Given the description of an element on the screen output the (x, y) to click on. 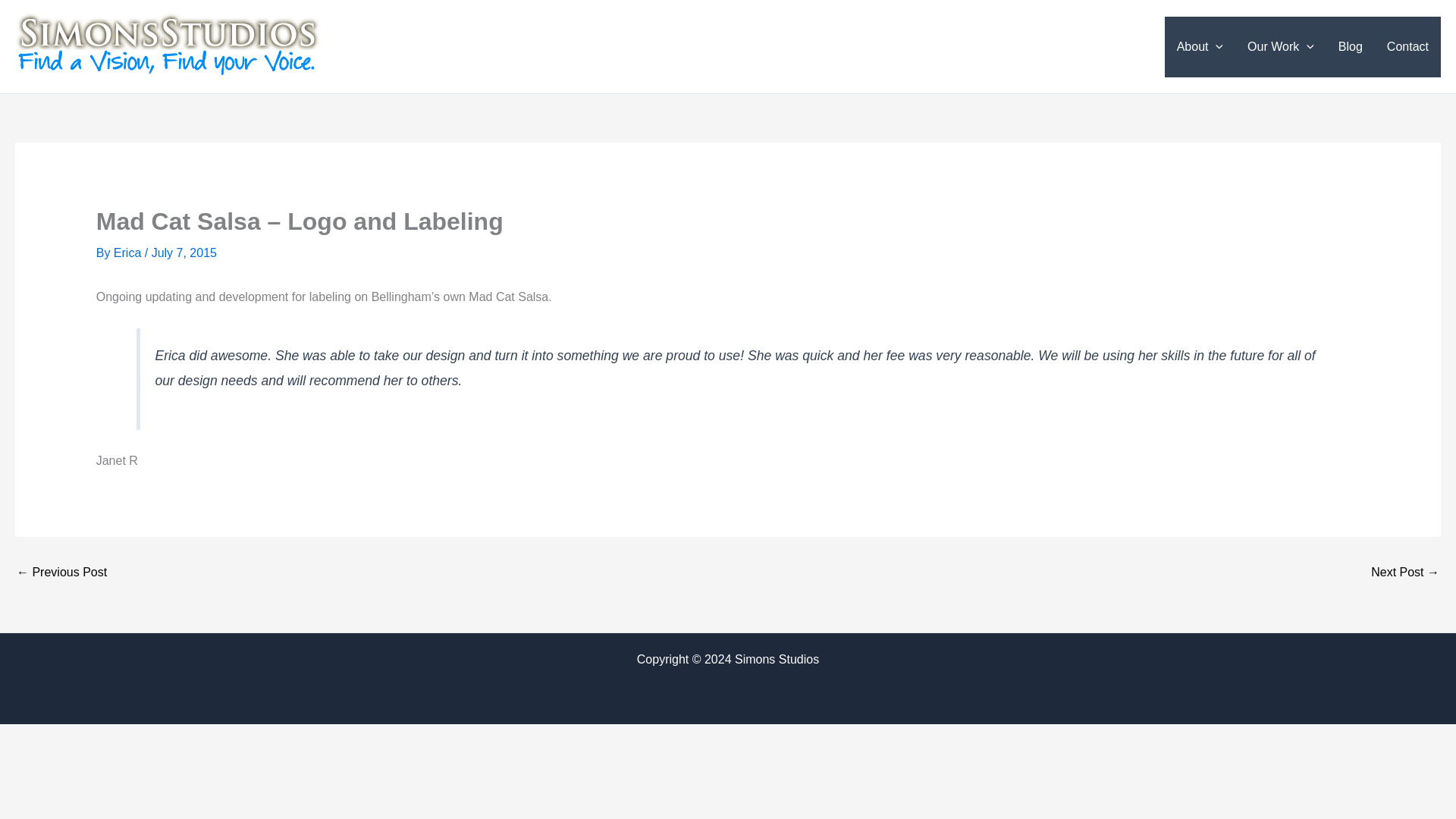
View all posts by Erica (128, 252)
Free Web Workbook Just Released (61, 572)
Our Work (1280, 46)
The 5 Things You Need to Maintain in WordPress (1405, 572)
Contact (1407, 46)
About (1199, 46)
